Given the description of an element on the screen output the (x, y) to click on. 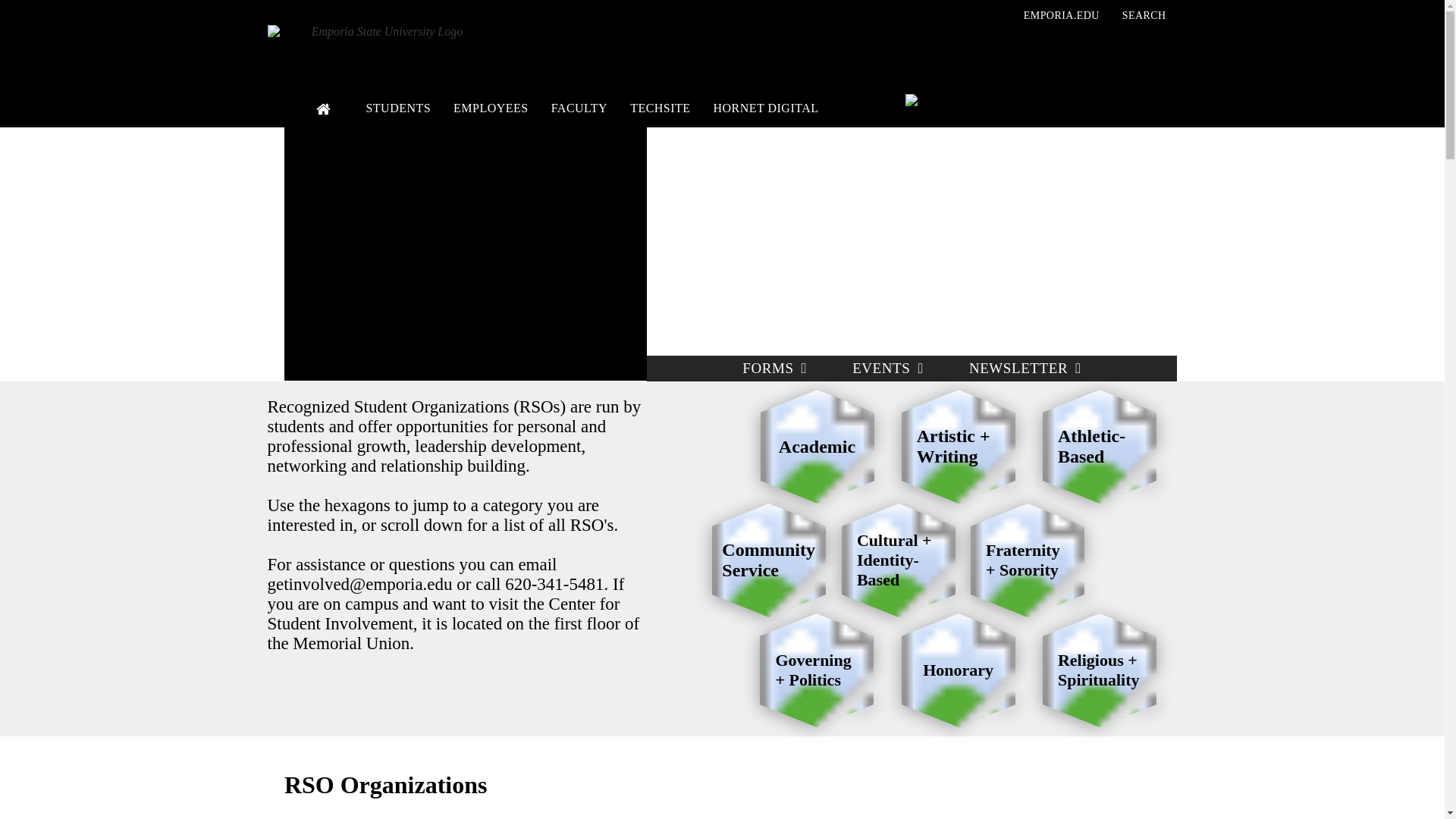
NEWSLETTER (1024, 368)
SEARCH (1143, 15)
EVENTS (887, 368)
Athletic-Based (1099, 446)
EMPLOYEES (491, 107)
Community Service (768, 560)
HORNET DIGITAL (765, 107)
TECHSITE (659, 107)
EMPORIA.EDU (1060, 15)
Academic (816, 446)
FORMS (774, 368)
STUDENTS (397, 107)
FACULTY (580, 107)
Honorary (957, 670)
